Given the description of an element on the screen output the (x, y) to click on. 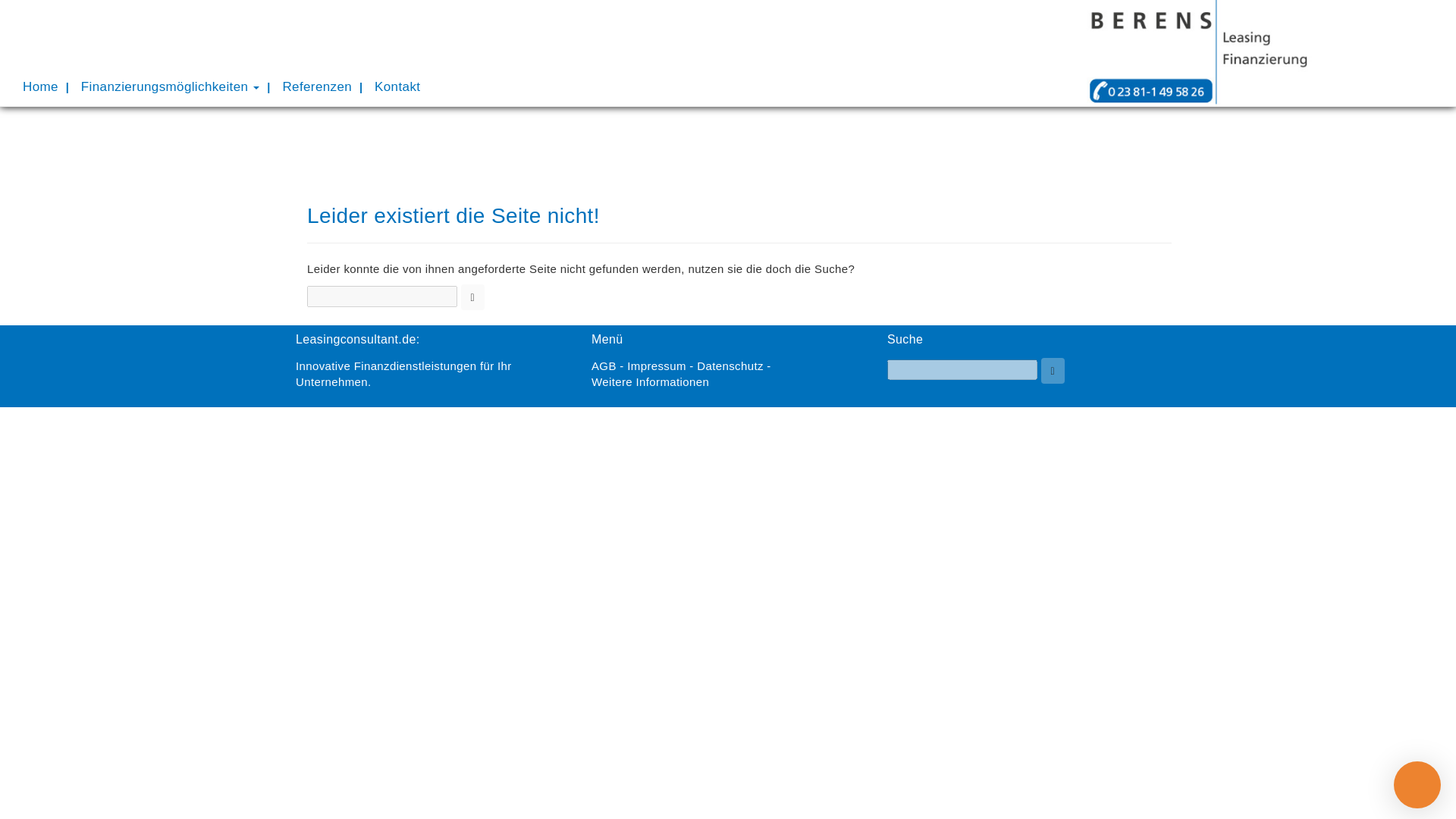
Referenzen (316, 86)
Kontakt (396, 86)
Home (40, 86)
Home (40, 86)
Referenzen (316, 86)
Kontakt (396, 86)
